Given the description of an element on the screen output the (x, y) to click on. 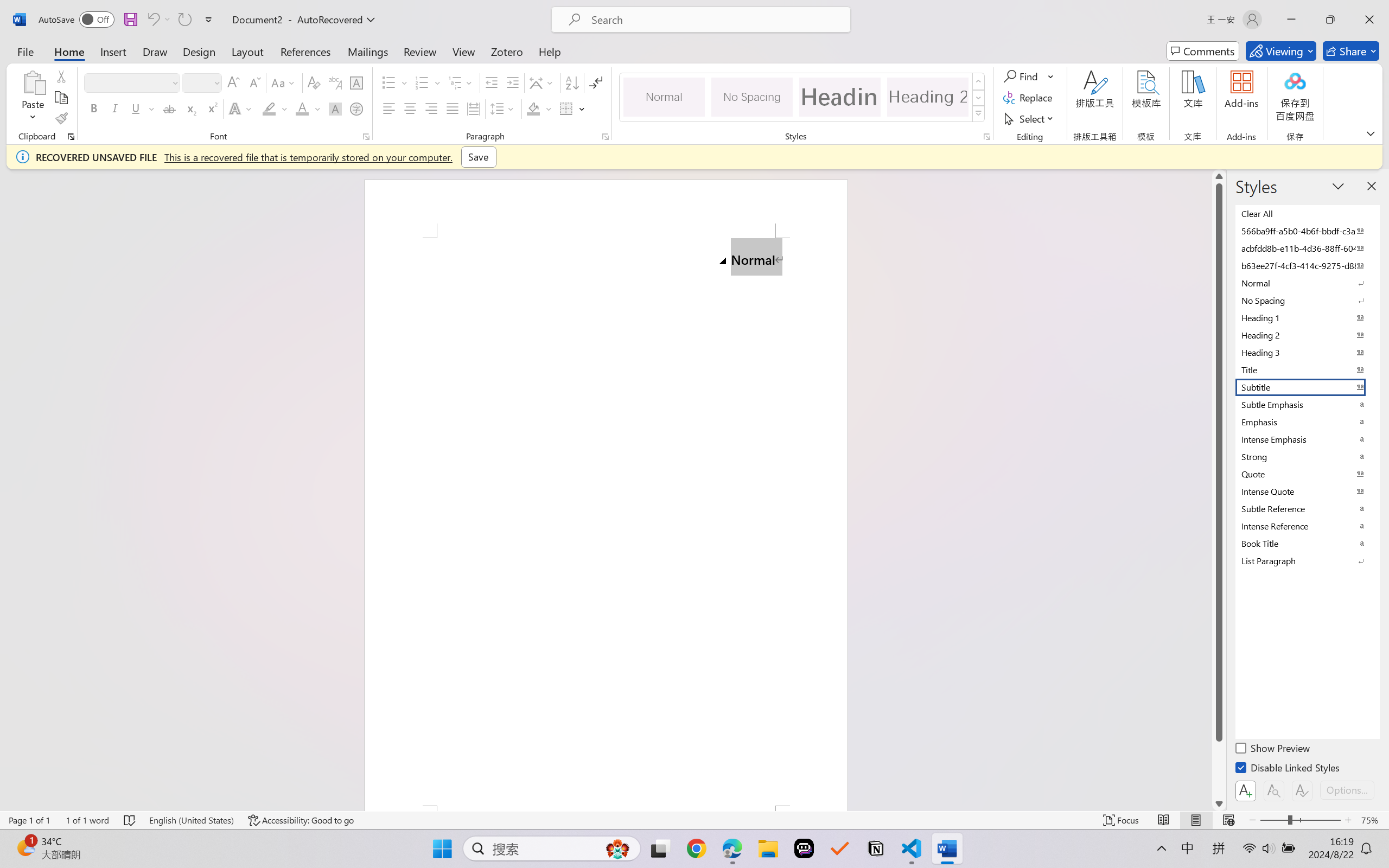
Styles (978, 113)
Grow Font (233, 82)
Justify (452, 108)
Sort... (571, 82)
Text Highlight Color Yellow (269, 108)
Heading 2 (927, 96)
Strikethrough (169, 108)
Decrease Indent (491, 82)
Open (215, 82)
